Given the description of an element on the screen output the (x, y) to click on. 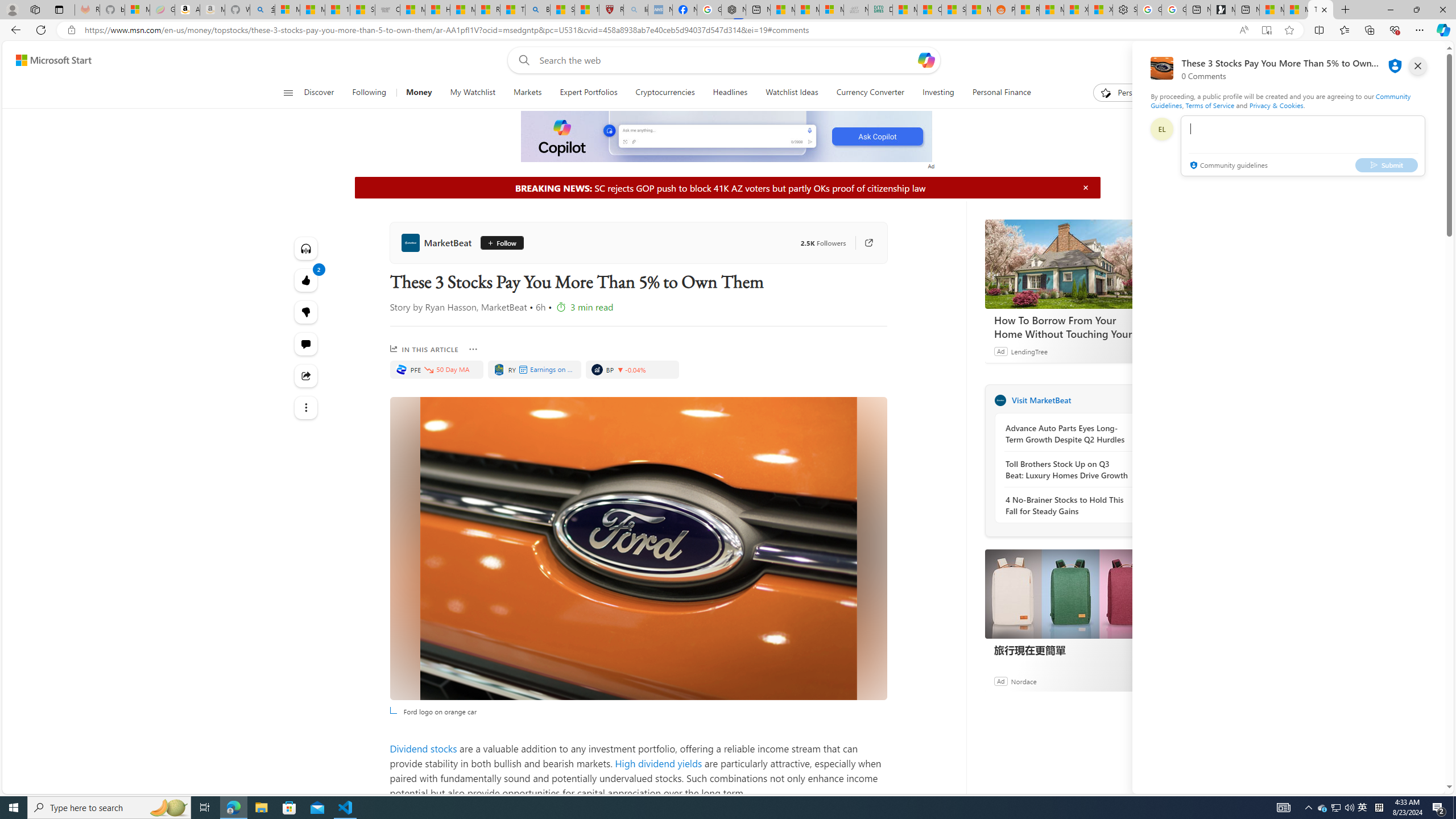
Submit (1386, 164)
close (1417, 65)
PFIZER INC. (400, 369)
Terms of Service (1209, 104)
